Given the description of an element on the screen output the (x, y) to click on. 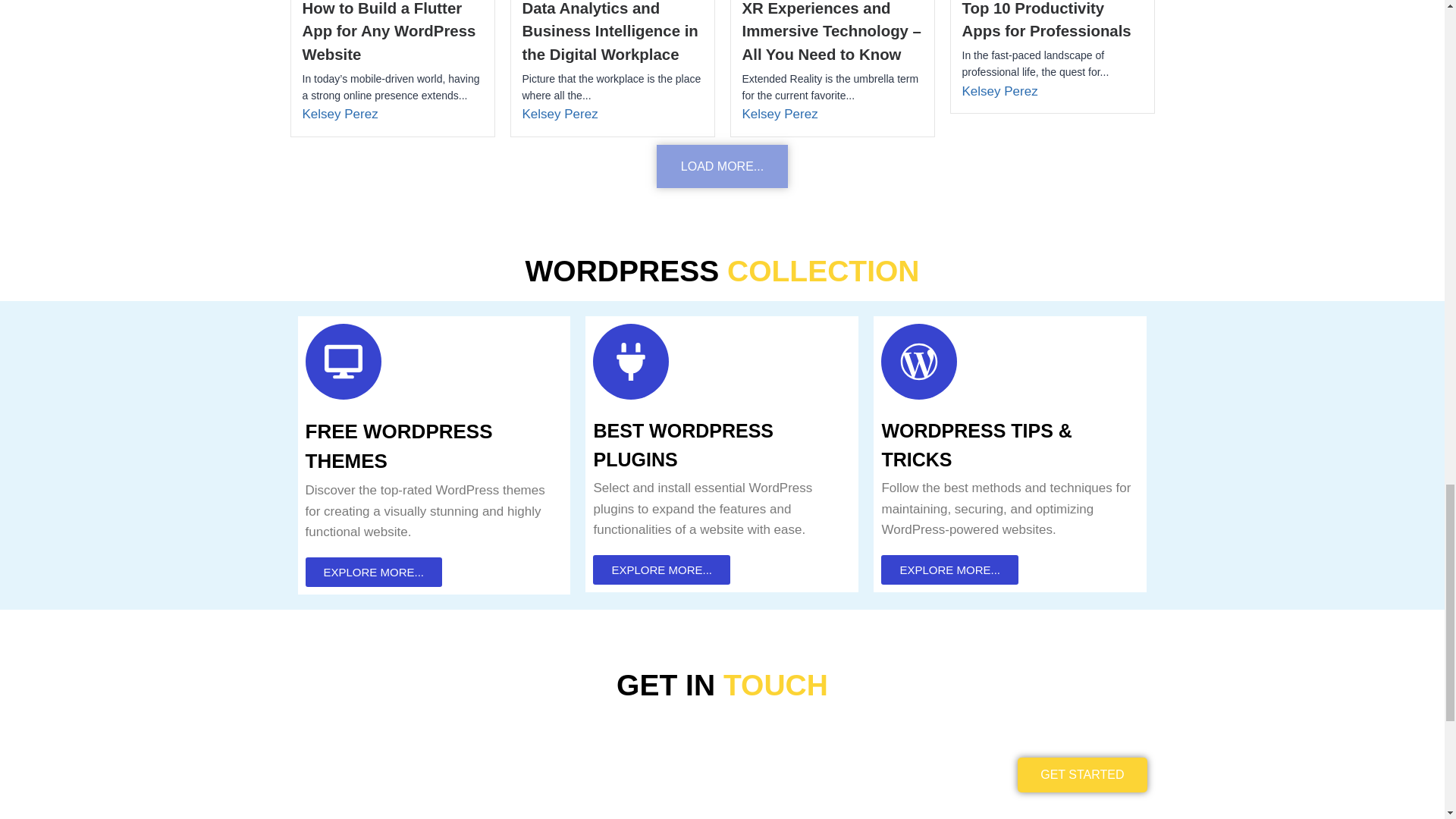
Posts by Kelsey Perez (339, 114)
Posts by Kelsey Perez (998, 91)
Top 10 Productivity Apps for Professionals (1045, 20)
Posts by Kelsey Perez (558, 114)
How to Build a Flutter App for Any WordPress Website (388, 31)
Posts by Kelsey Perez (778, 114)
